Given the description of an element on the screen output the (x, y) to click on. 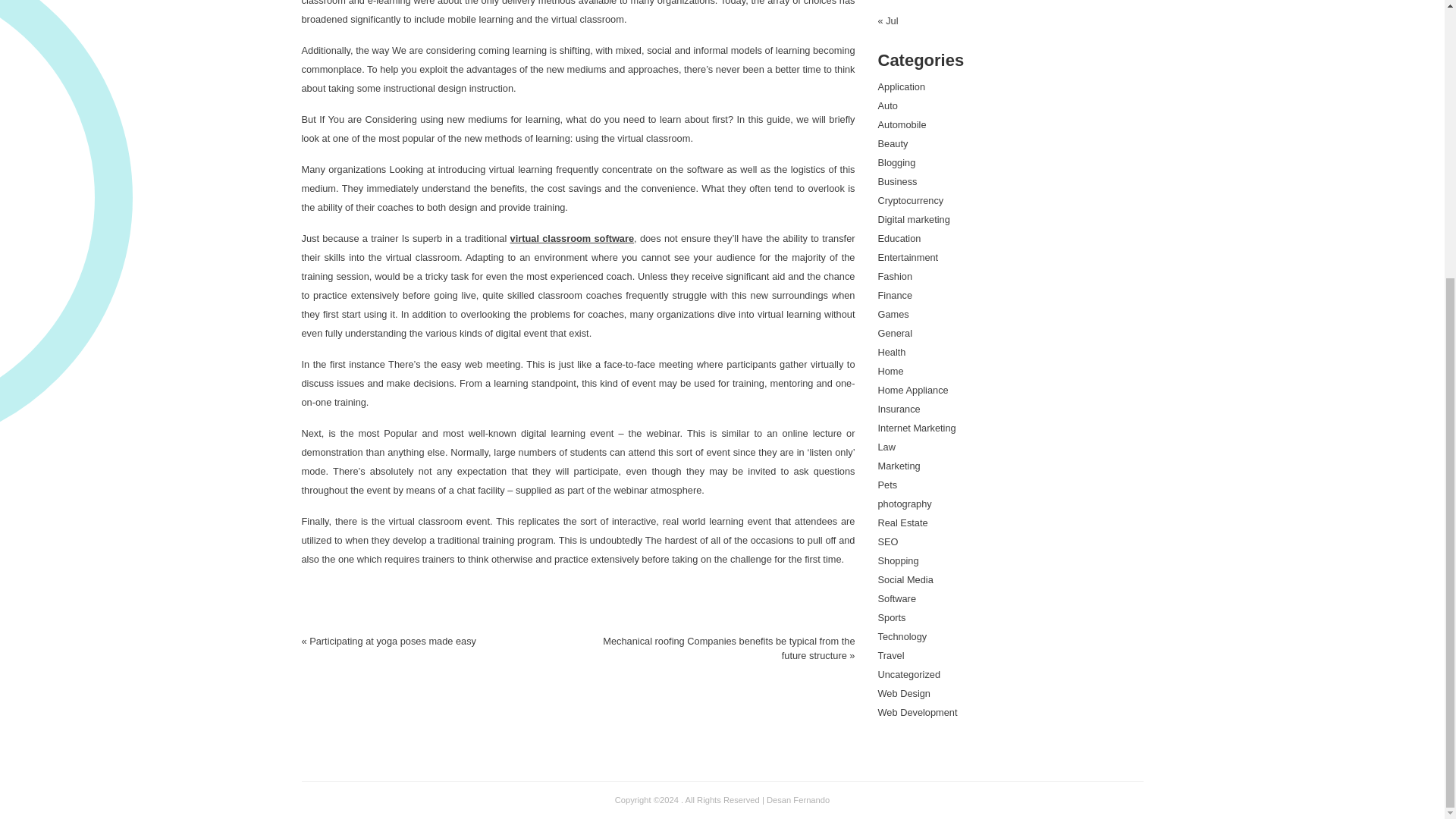
Real Estate (902, 522)
Beauty (892, 143)
Finance (894, 295)
Law (886, 446)
General (894, 333)
photography (904, 503)
Participating at yoga poses made easy (392, 641)
Health (891, 351)
Business (897, 181)
Games (892, 314)
